Given the description of an element on the screen output the (x, y) to click on. 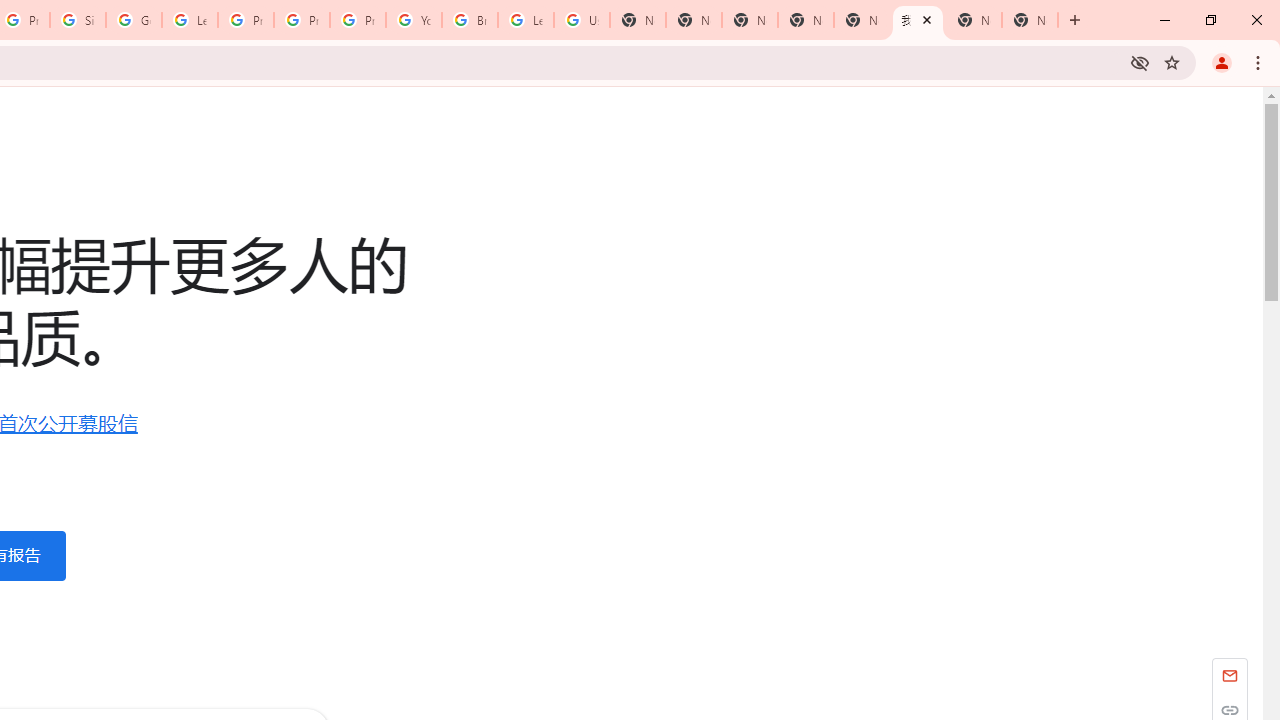
Privacy Help Center - Policies Help (245, 20)
